Given the description of an element on the screen output the (x, y) to click on. 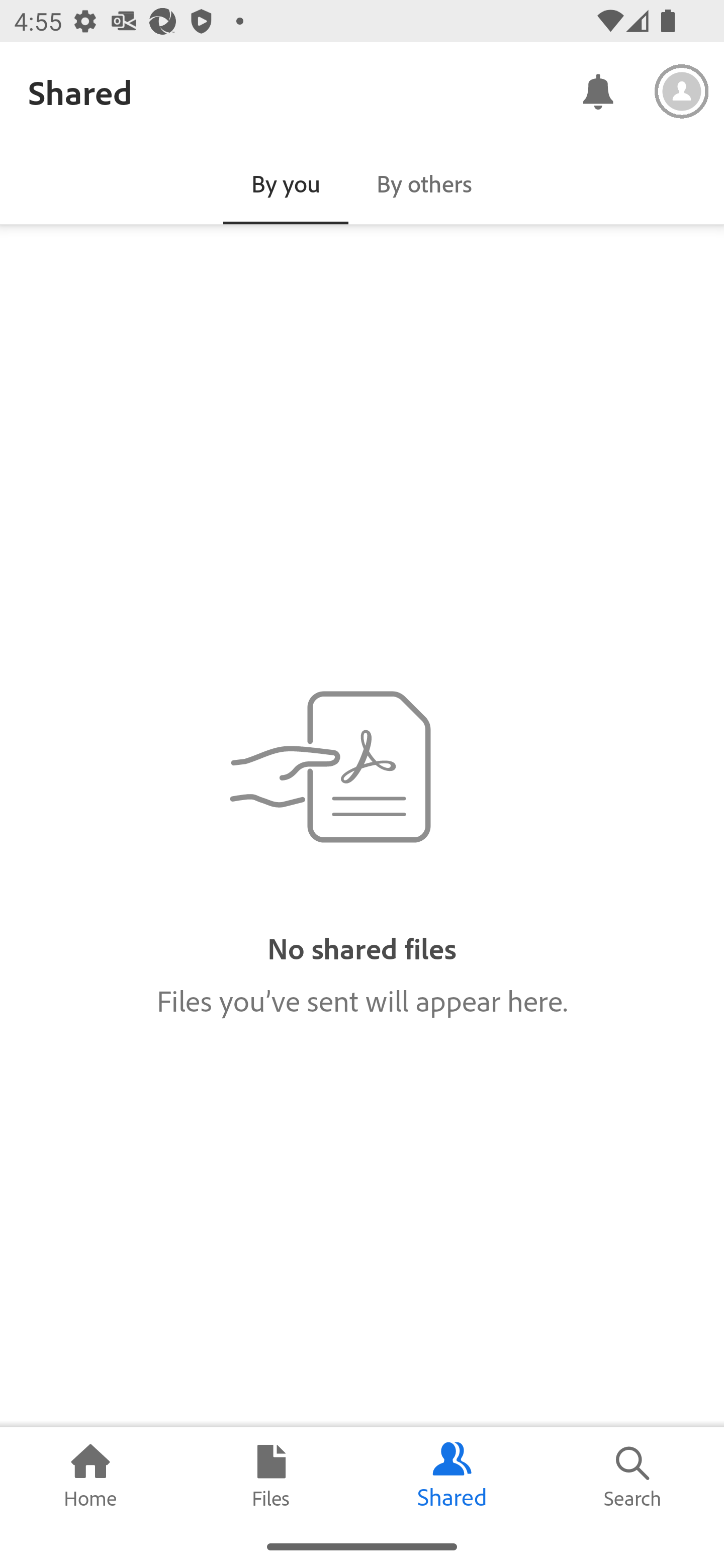
Notifications (597, 90)
Settings (681, 91)
By you (285, 183)
By others (424, 183)
Home (90, 1475)
Files (271, 1475)
Shared (452, 1475)
Search (633, 1475)
